Given the description of an element on the screen output the (x, y) to click on. 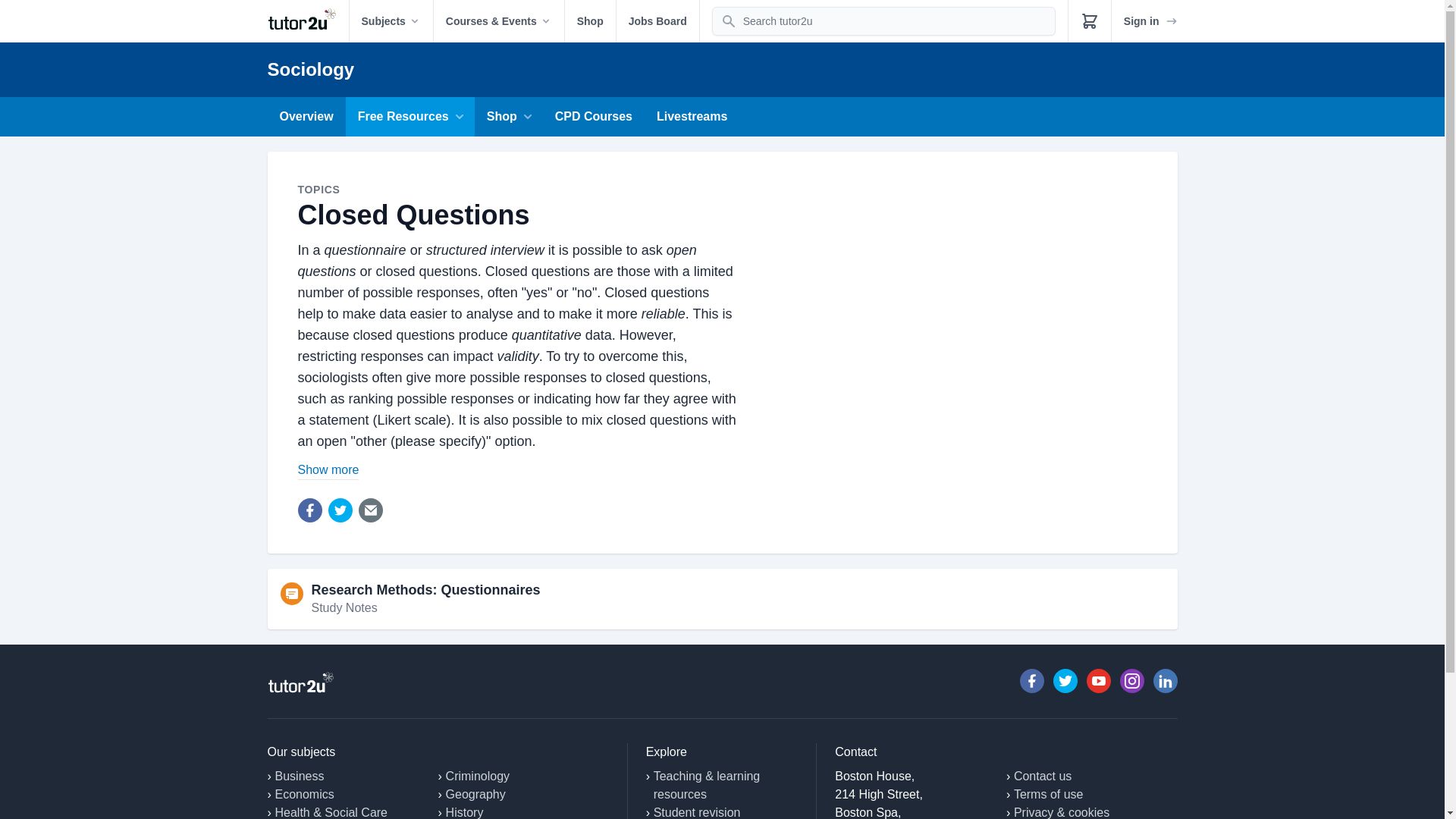
Free Resources (410, 116)
Sociology (309, 68)
Shop (589, 21)
Sign in (1150, 21)
Subjects (390, 21)
tutor2u (306, 21)
Overview (305, 116)
Jobs Board (656, 21)
